Given the description of an element on the screen output the (x, y) to click on. 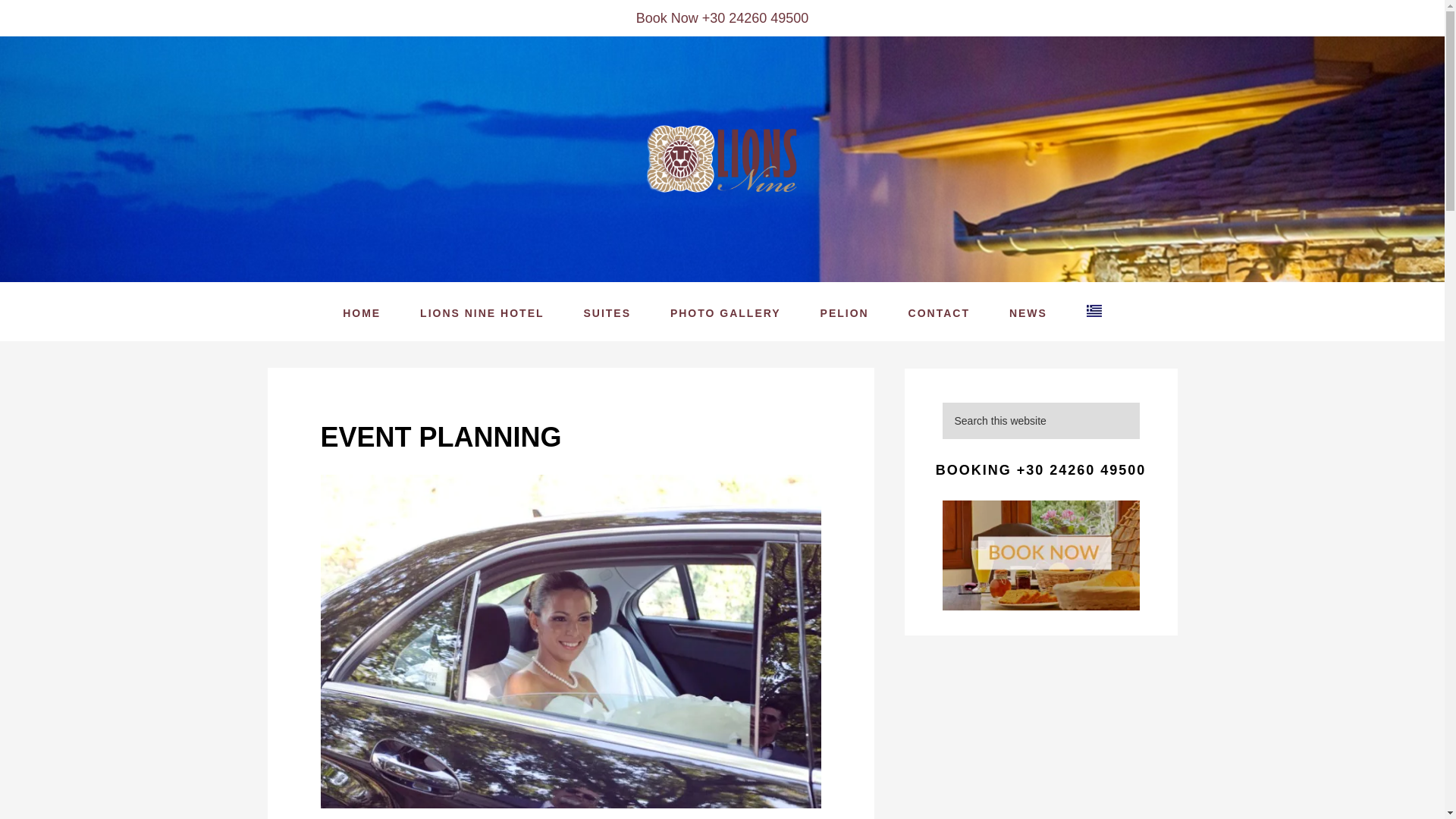
SUITES (606, 313)
NEWS (1028, 313)
LIONS NINE HOTEL - PELION GREECE (722, 159)
LIONS NINE HOTEL (481, 313)
CONTACT (938, 313)
HOME (361, 313)
PHOTO GALLERY (725, 313)
PELION (844, 313)
